Given the description of an element on the screen output the (x, y) to click on. 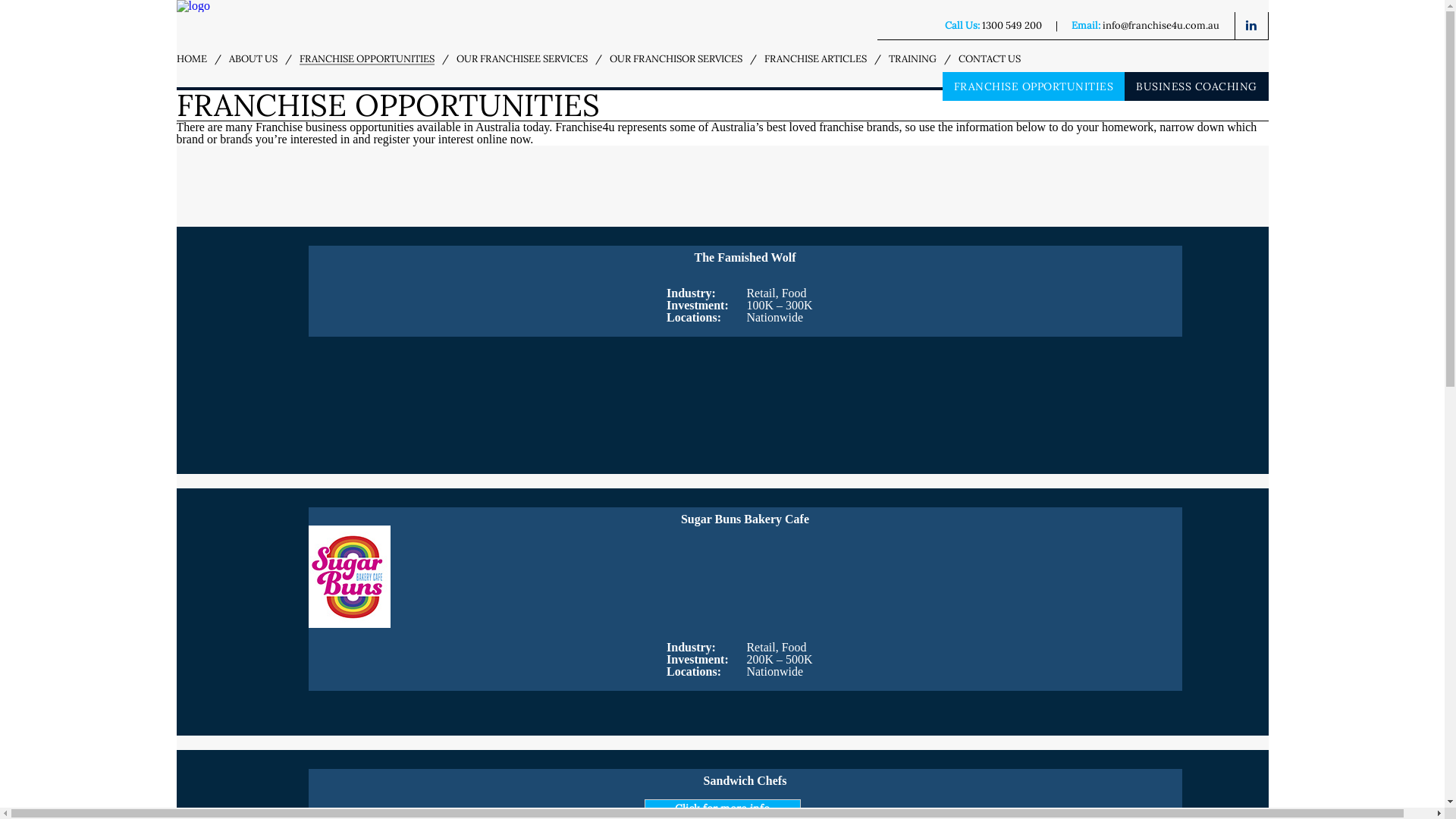
CONTACT US Element type: text (989, 58)
FRANCHISE OPPORTUNITIES Element type: text (365, 59)
TRAINING Element type: text (912, 58)
info@franchise4u.com.au Element type: text (1160, 24)
ABOUT US Element type: text (253, 58)
OUR FRANCHISEE SERVICES Element type: text (521, 58)
Click for more info Element type: text (722, 808)
OUR FRANCHISOR SERVICES Element type: text (675, 58)
FRANCHISE OPPORTUNITIES Element type: text (1032, 86)
BUSINESS COACHING Element type: text (1196, 86)
FRANCHISE ARTICLES Element type: text (815, 58)
HOME Element type: text (190, 58)
